Given the description of an element on the screen output the (x, y) to click on. 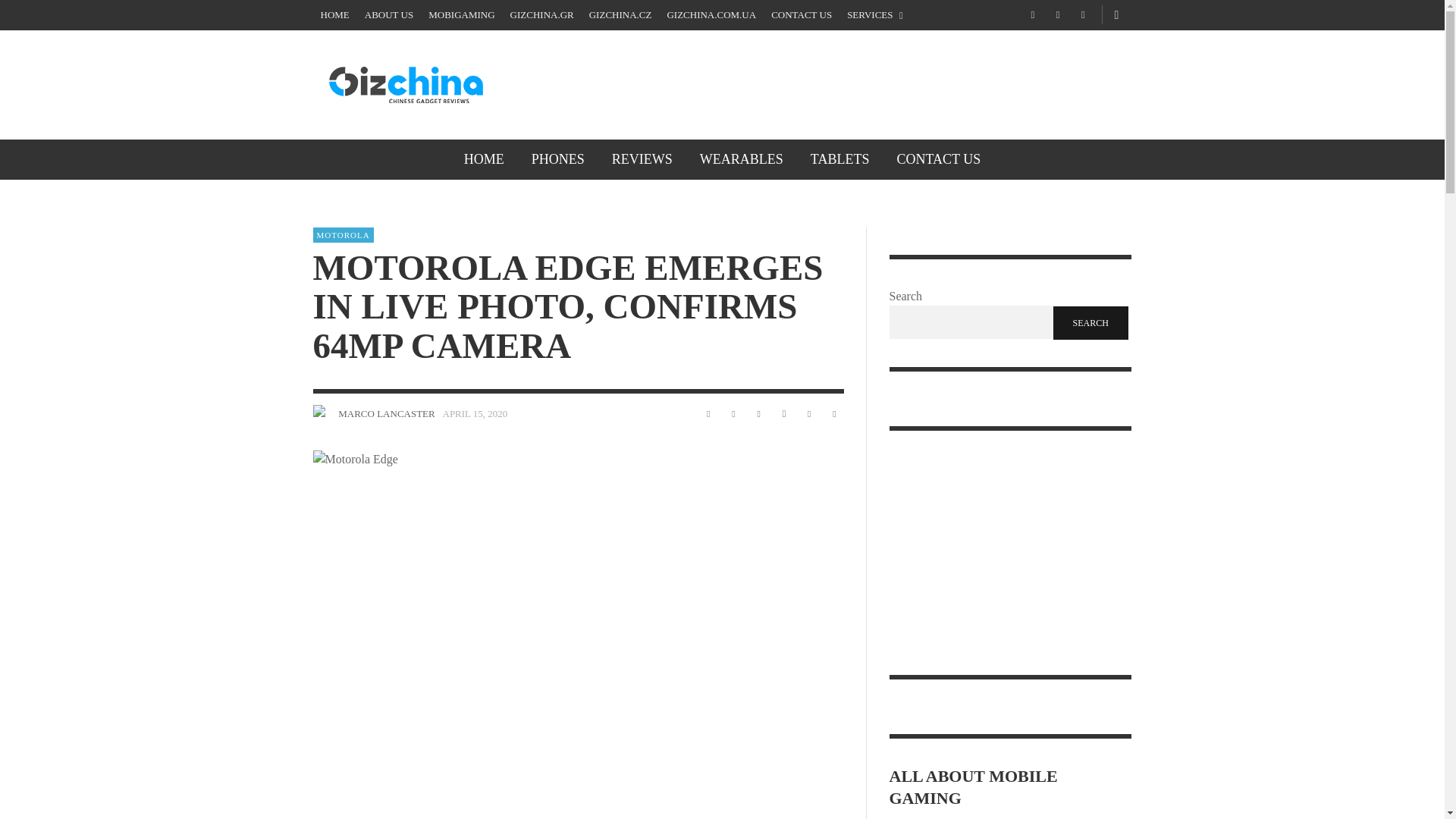
HOME (483, 159)
HOME (334, 15)
GIZCHINA.GR (541, 15)
PHONES (558, 159)
MOBIGAMING (461, 15)
REVIEWS (641, 159)
ABOUT US (388, 15)
GIZCHINA.COM.UA (710, 15)
CONTACT US (801, 15)
GIZCHINA.CZ (619, 15)
SERVICES (875, 15)
